Given the description of an element on the screen output the (x, y) to click on. 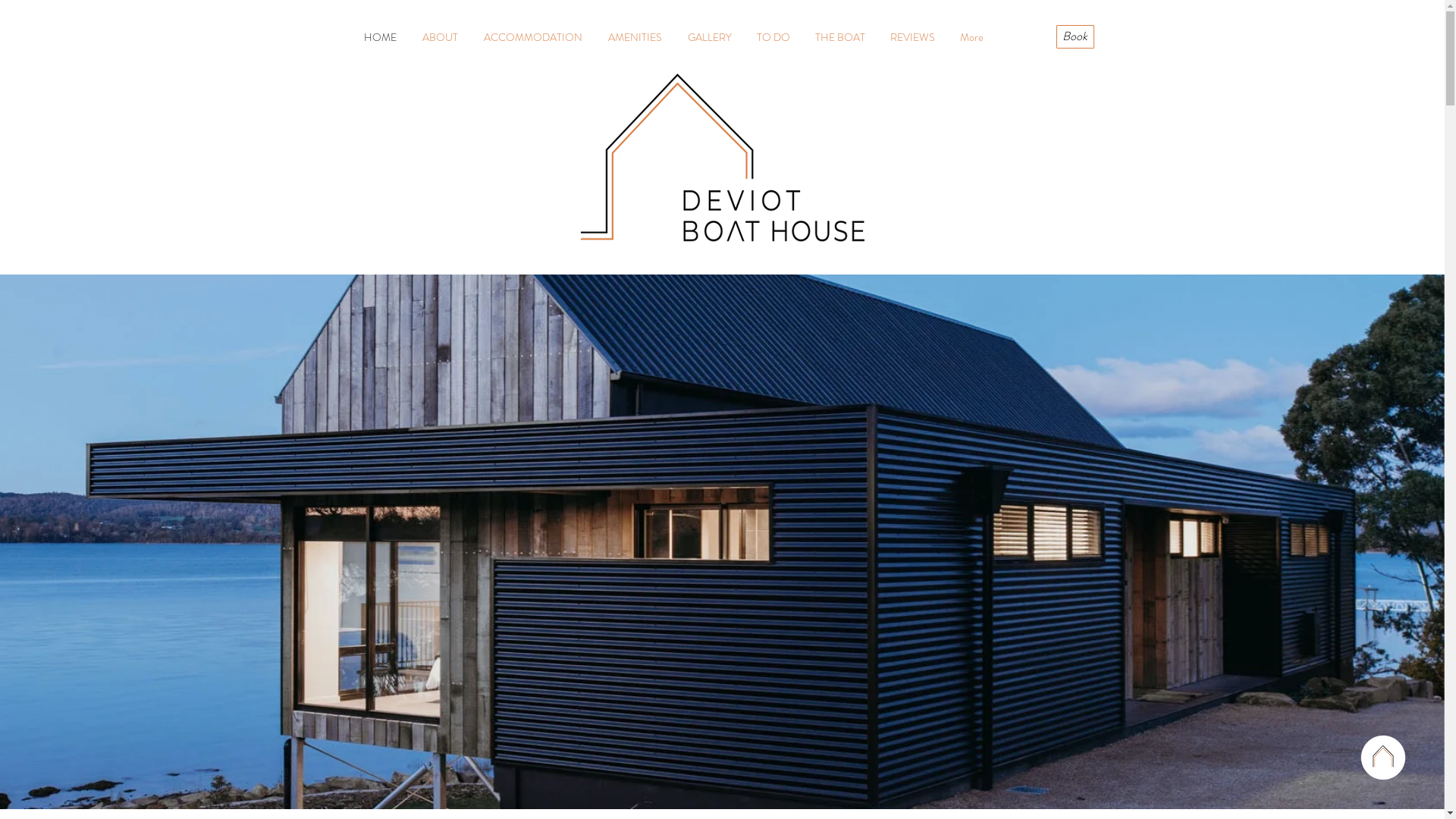
GALLERY Element type: text (709, 37)
Book Element type: text (1074, 36)
TO DO Element type: text (773, 37)
HOME Element type: text (379, 37)
AMENITIES Element type: text (634, 37)
REVIEWS Element type: text (912, 37)
ABOUT Element type: text (439, 37)
ACCOMMODATION Element type: text (532, 37)
THE BOAT Element type: text (839, 37)
